Given the description of an element on the screen output the (x, y) to click on. 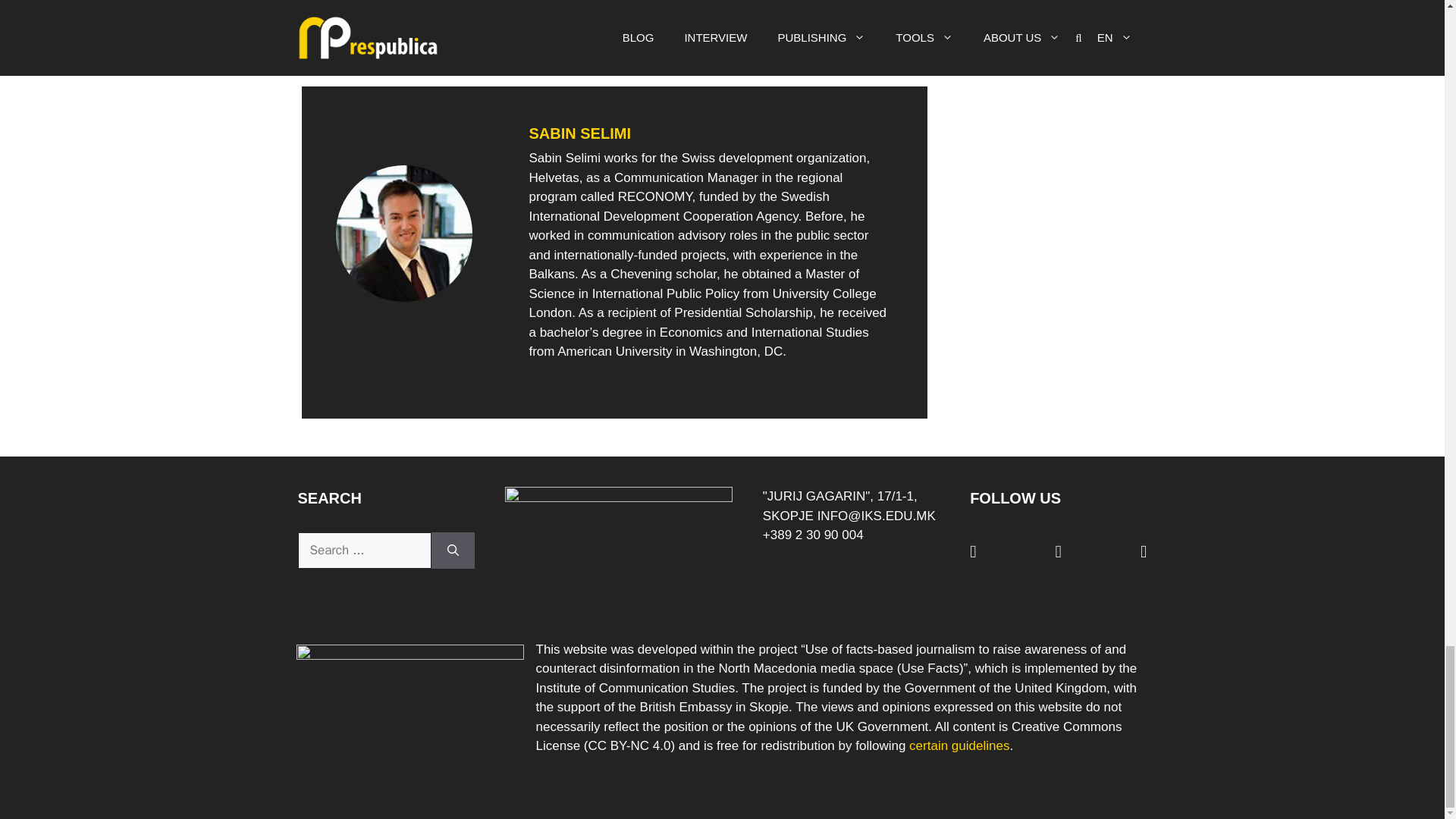
Search for: (363, 550)
SABIN SELIMI (579, 133)
